Given the description of an element on the screen output the (x, y) to click on. 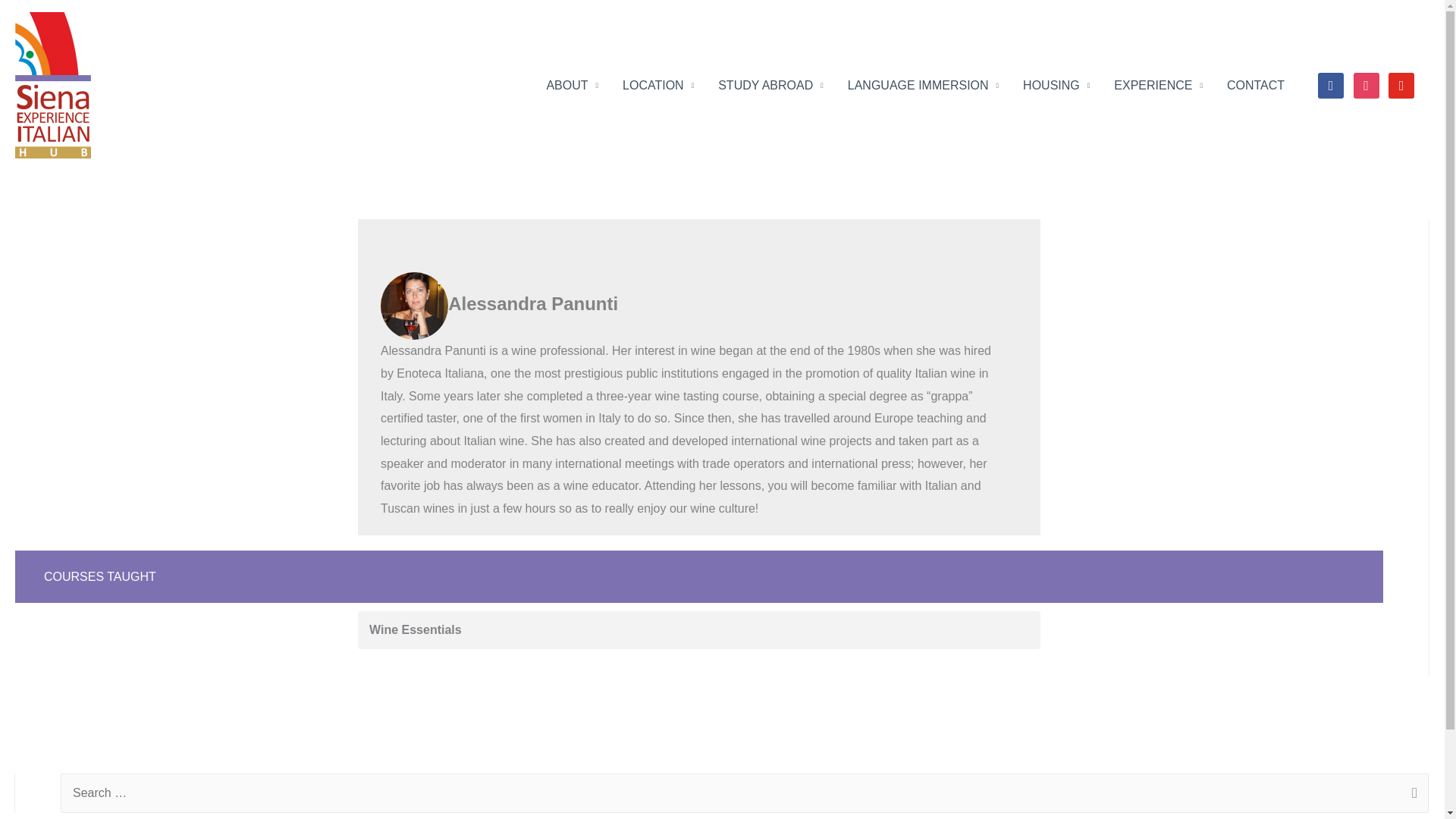
facebook (1330, 85)
LOCATION (658, 84)
LANGUAGE IMMERSION (922, 84)
CONTACT (1255, 84)
youtube (1401, 85)
instagram (1366, 85)
Default Label (1401, 85)
EXPERIENCE (1158, 84)
HOUSING (1056, 84)
ABOUT (572, 84)
STUDY ABROAD (770, 84)
